Given the description of an element on the screen output the (x, y) to click on. 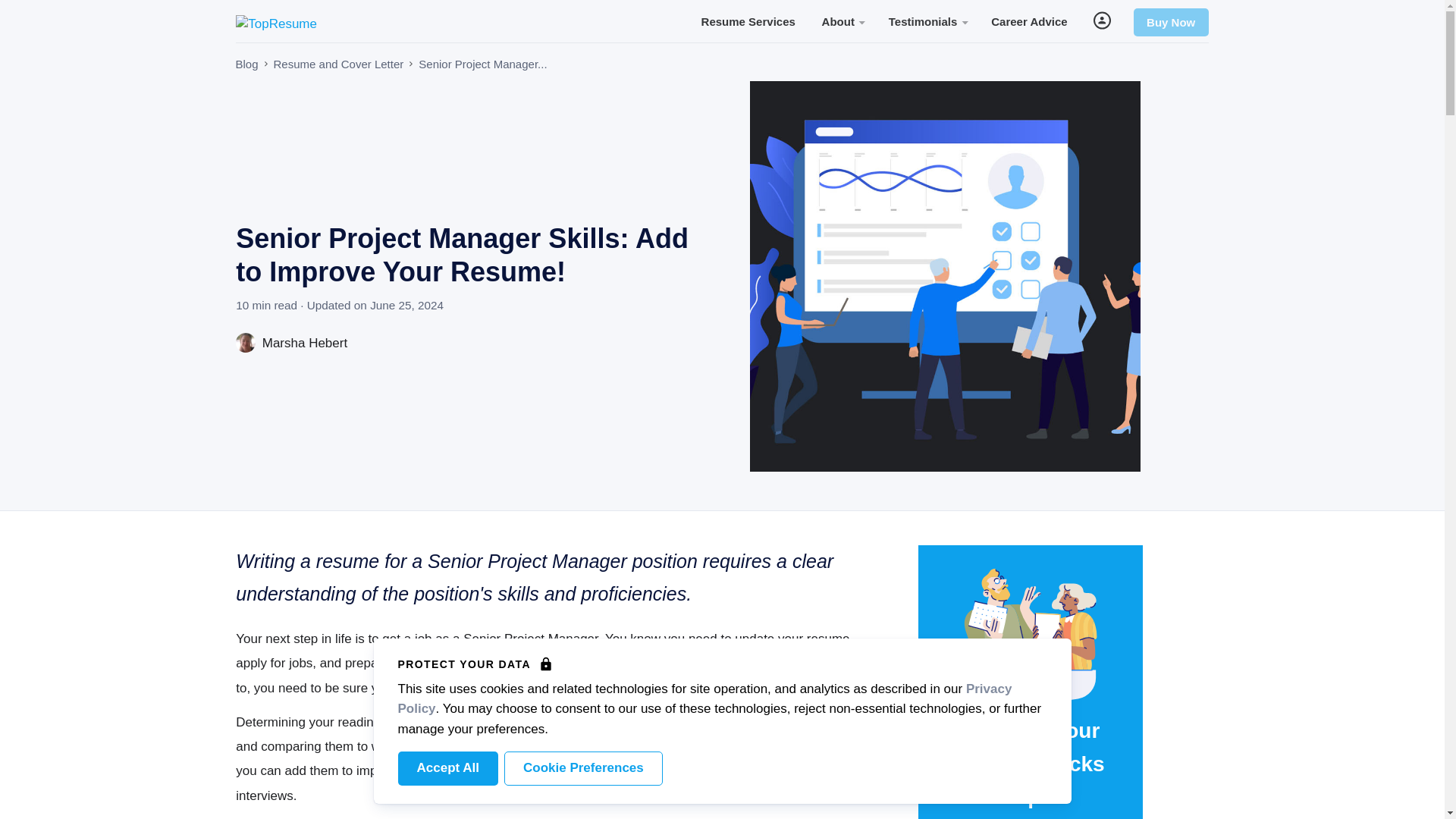
Accept All (447, 768)
Marsha Hebert (291, 342)
About (841, 20)
Buy Now (1171, 22)
Privacy Policy (704, 698)
Career Advice (1028, 20)
Testimonials (926, 20)
Resume Services (748, 20)
Cookie Preferences (582, 768)
Blog (245, 63)
